Given the description of an element on the screen output the (x, y) to click on. 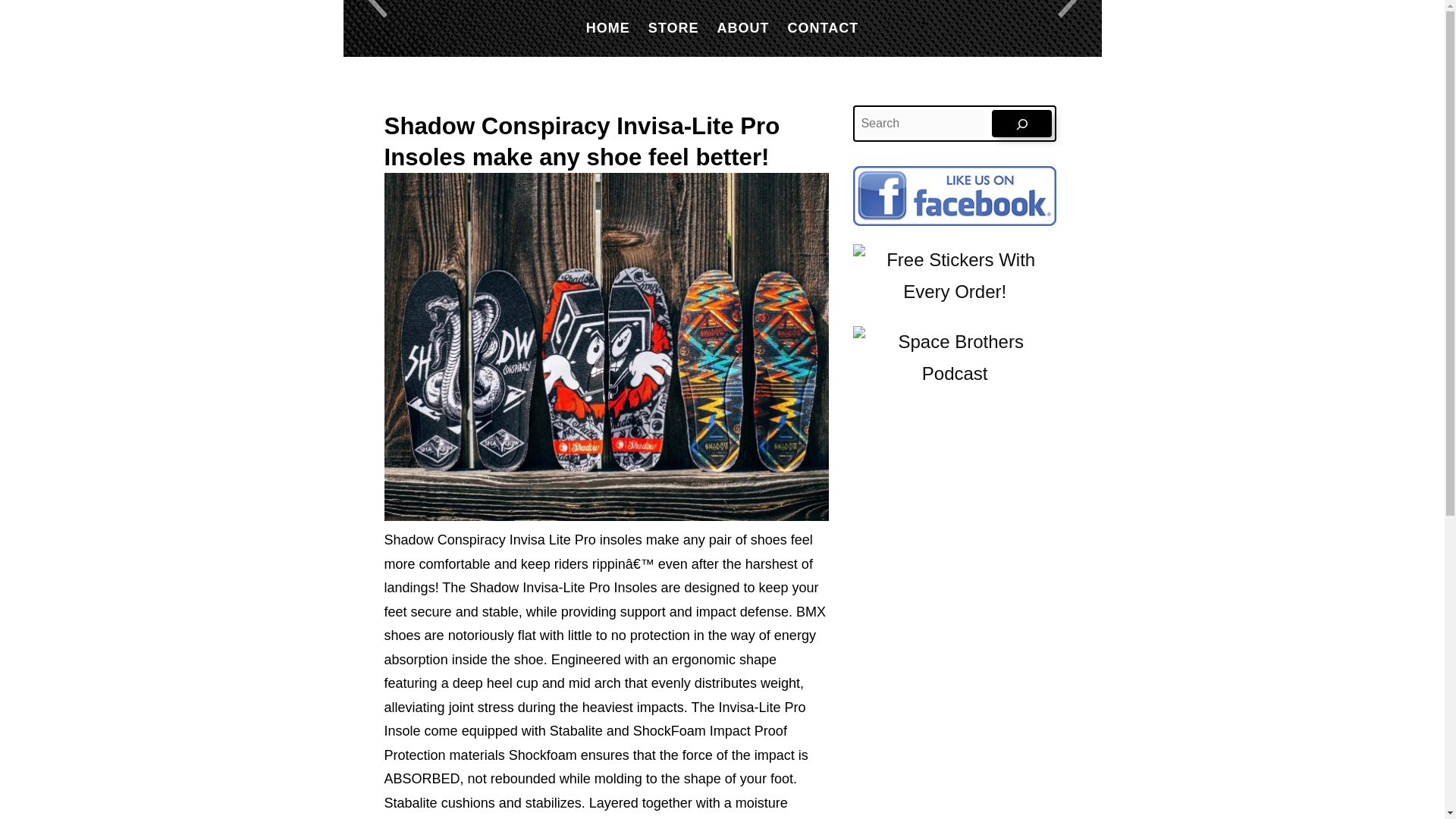
ABOUT (743, 28)
STORE (672, 28)
CONTACT (823, 28)
Contact Us (823, 28)
HOME (608, 28)
Home (608, 28)
About Us (743, 28)
Our eBay Store (672, 28)
